Given the description of an element on the screen output the (x, y) to click on. 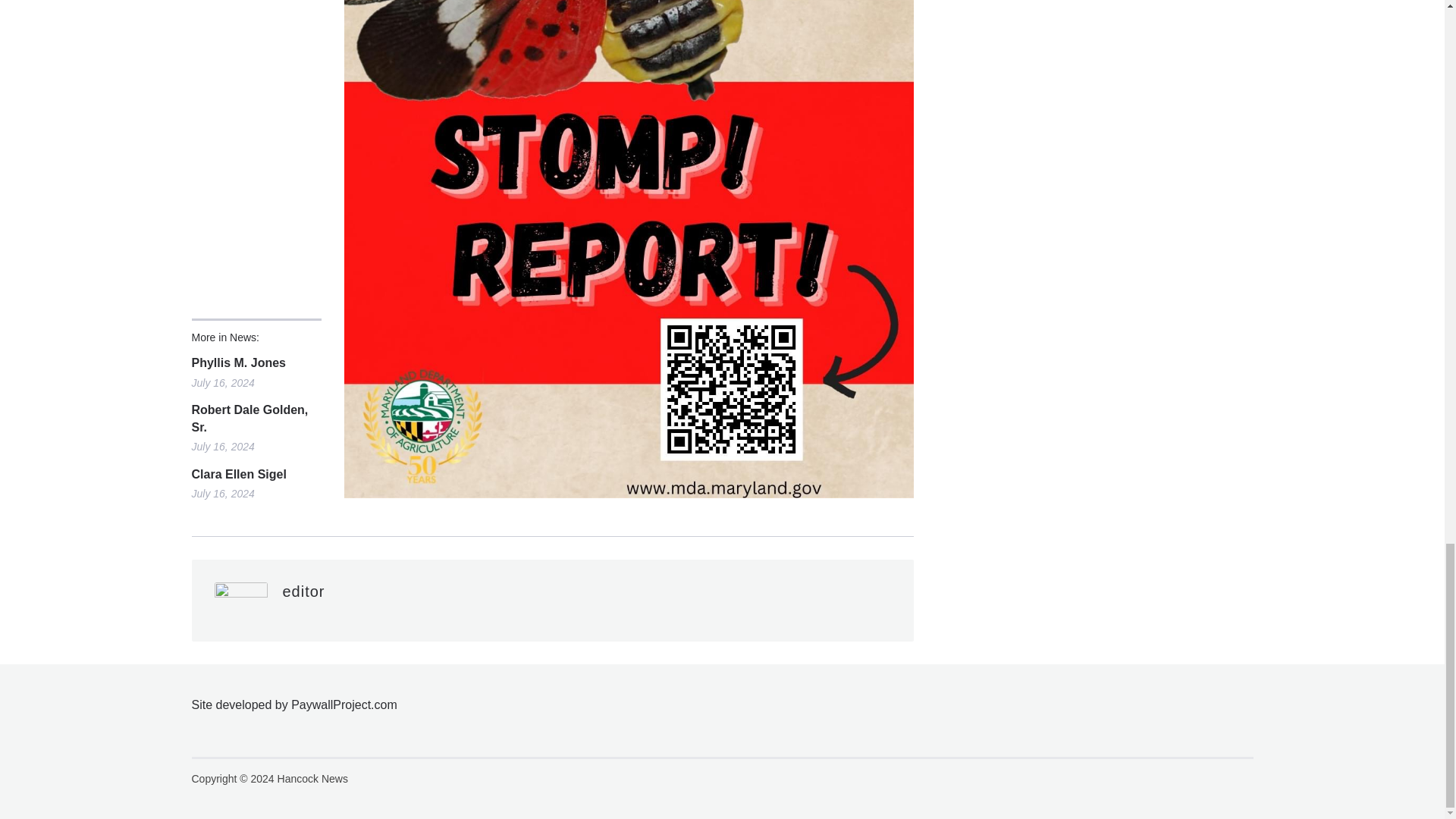
Posts by editor (303, 591)
Permalink to Phyllis M. Jones (255, 362)
Permalink to Robert Dale Golden, Sr. (255, 418)
Permalink to Clara Ellen Sigel (255, 474)
